Given the description of an element on the screen output the (x, y) to click on. 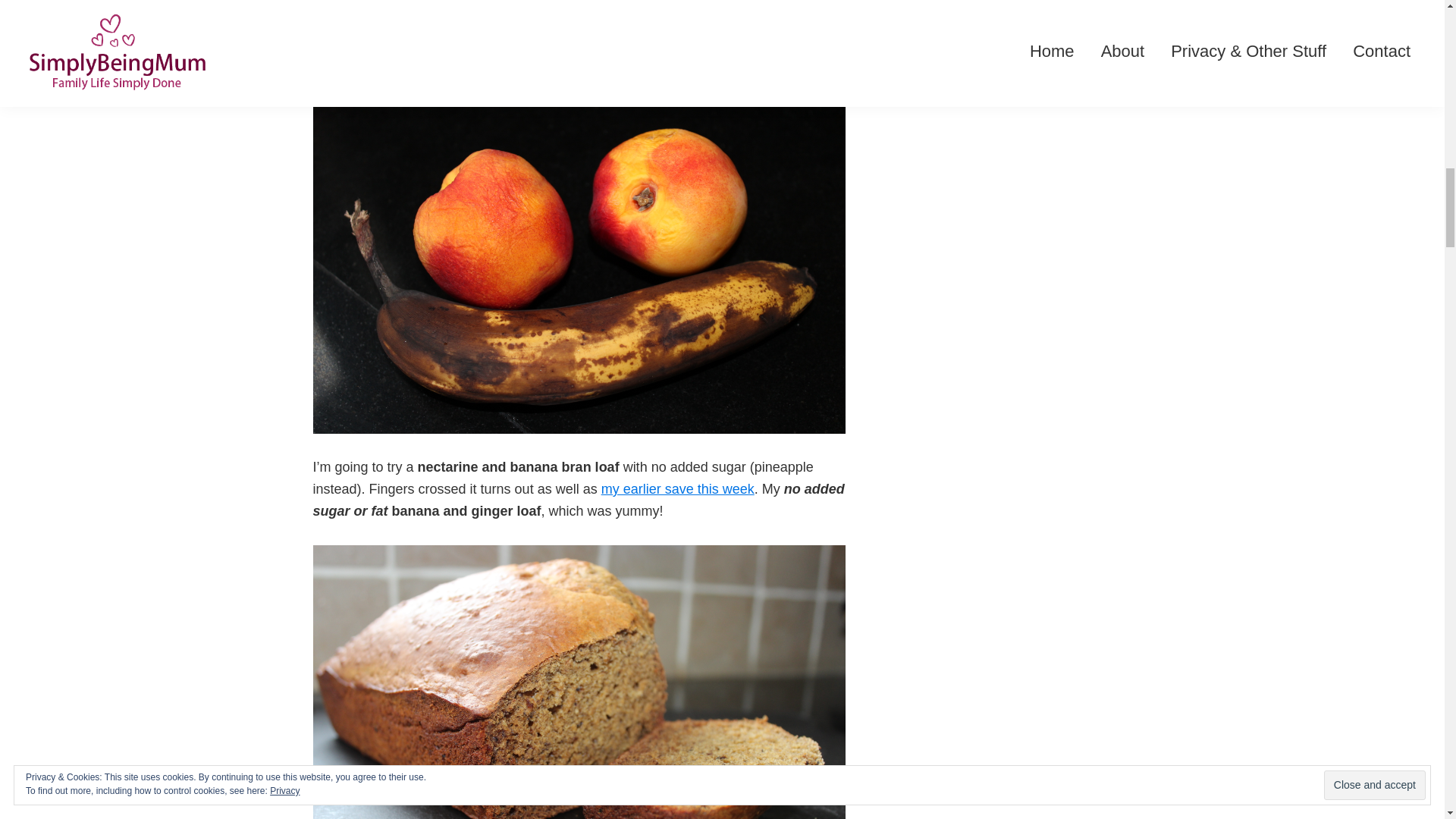
my earlier save this week (677, 488)
